Given the description of an element on the screen output the (x, y) to click on. 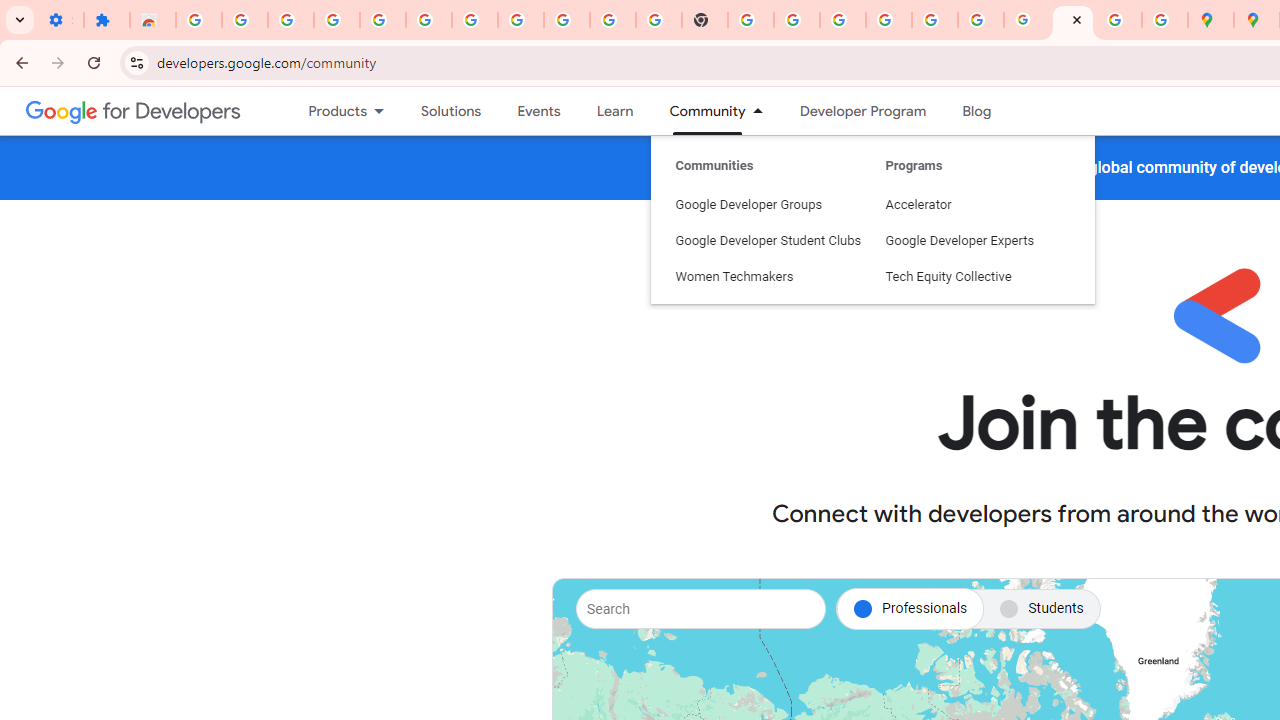
Events (538, 111)
Blog (976, 111)
Dropdown menu for Products (385, 111)
Sign in - Google Accounts (474, 20)
Sign in - Google Accounts (889, 20)
Tech Equity Collective (978, 183)
YouTube (613, 20)
Google Developer Experts (978, 147)
Learning Catalog (614, 111)
https://scholar.google.com/ (751, 20)
Extensions (107, 20)
New Tab (705, 20)
